Given the description of an element on the screen output the (x, y) to click on. 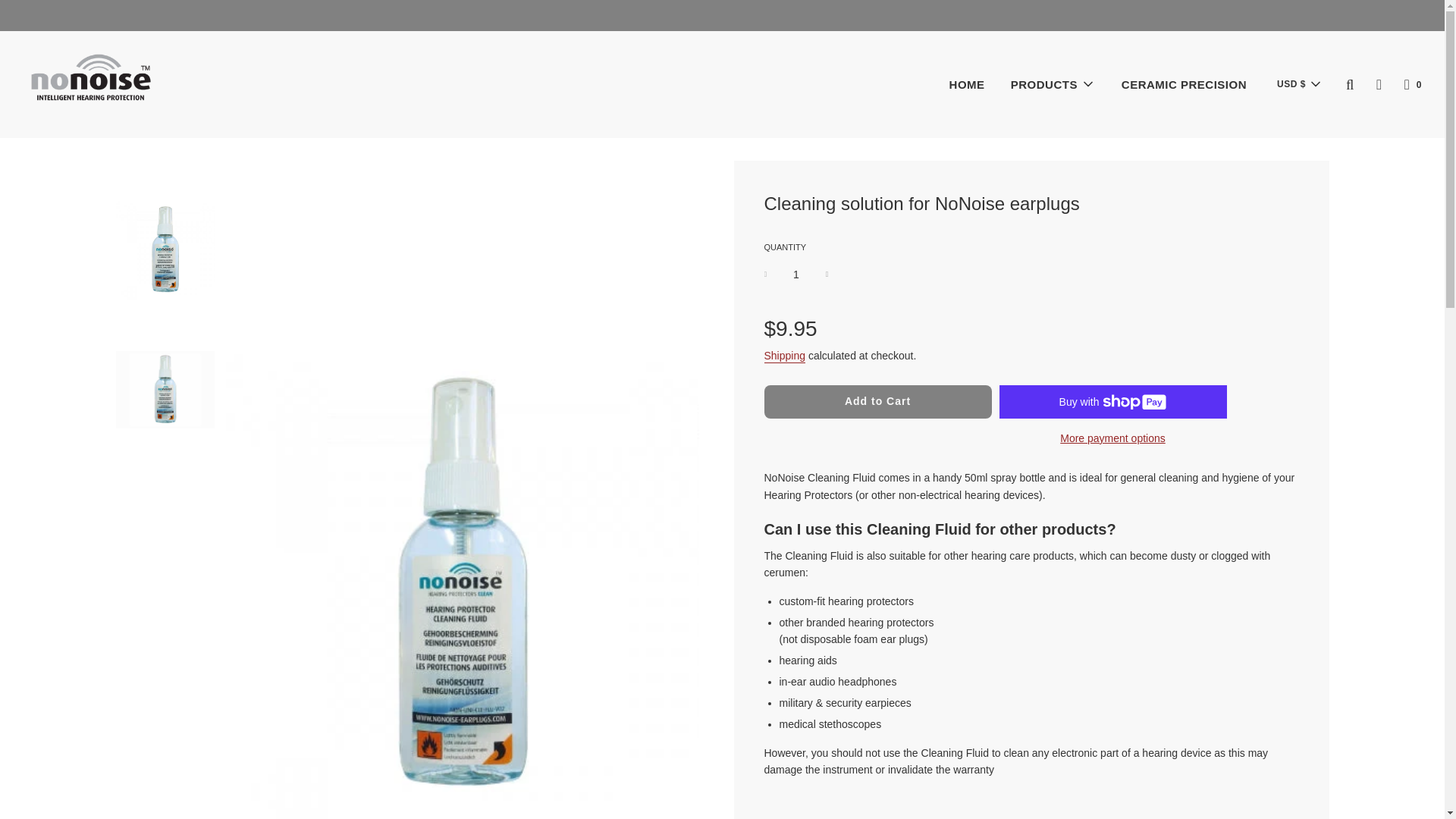
Log in (1378, 83)
1 (796, 274)
